Given the description of an element on the screen output the (x, y) to click on. 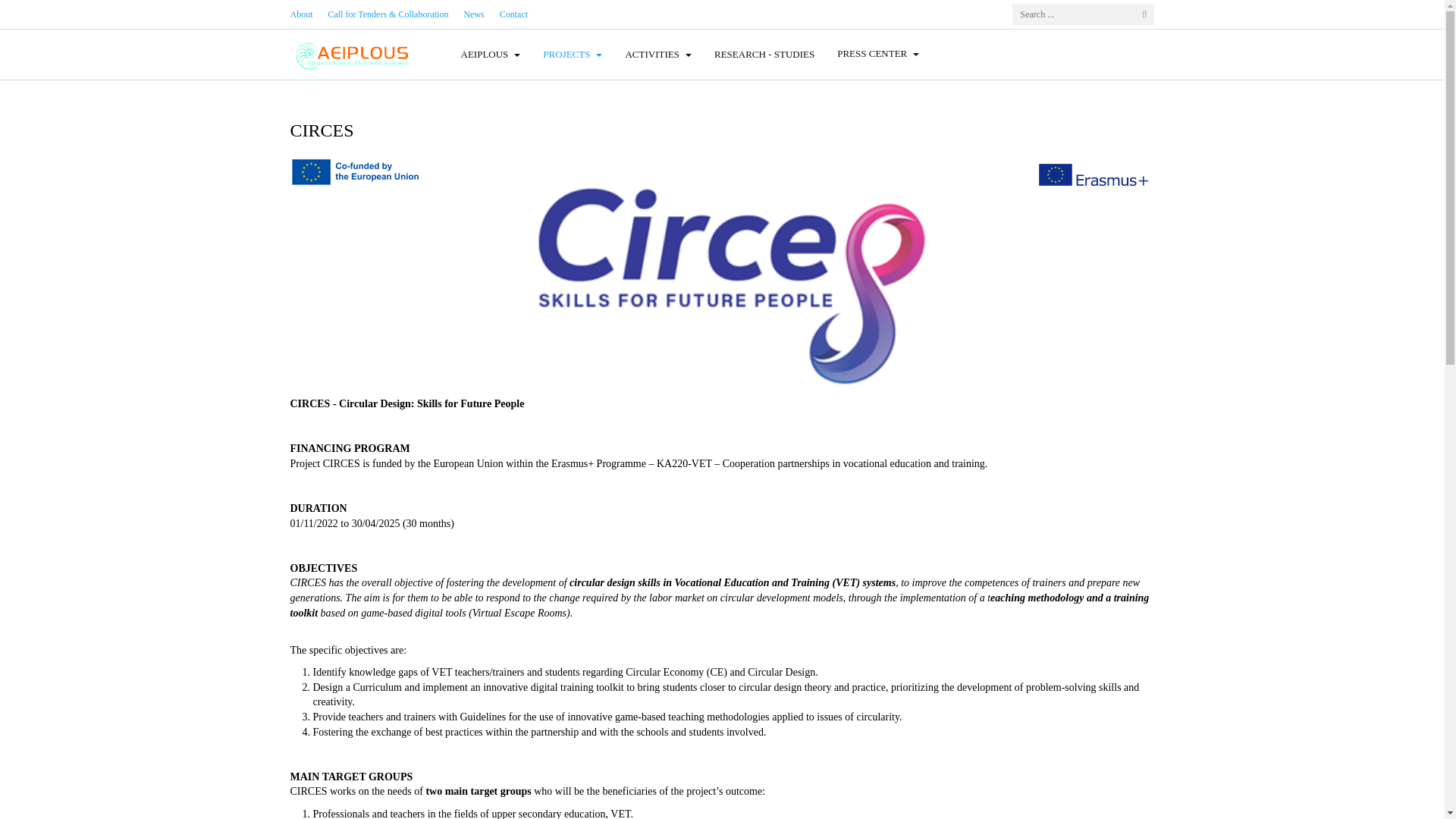
AEIPLOUS (489, 54)
About (301, 14)
Contact (513, 14)
RESEARCH - STUDIES (764, 54)
All treatment (489, 54)
PROJECTS (571, 54)
Ready... (571, 54)
ACTIVITIES (657, 54)
All treatment (657, 54)
News (473, 14)
AEIPLOUS (351, 54)
